Given the description of an element on the screen output the (x, y) to click on. 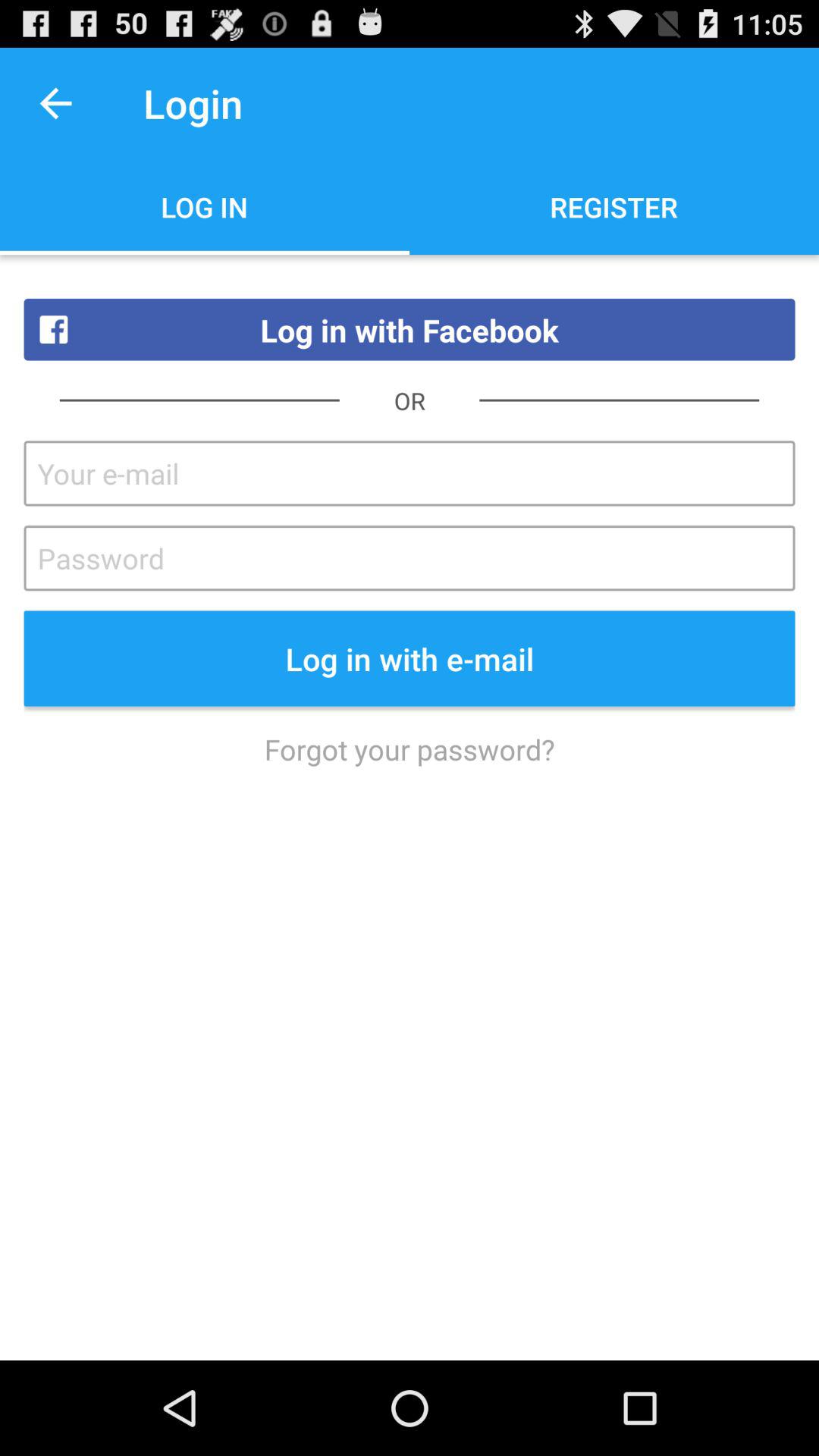
instead of your email just email wiill work better (409, 473)
